Given the description of an element on the screen output the (x, y) to click on. 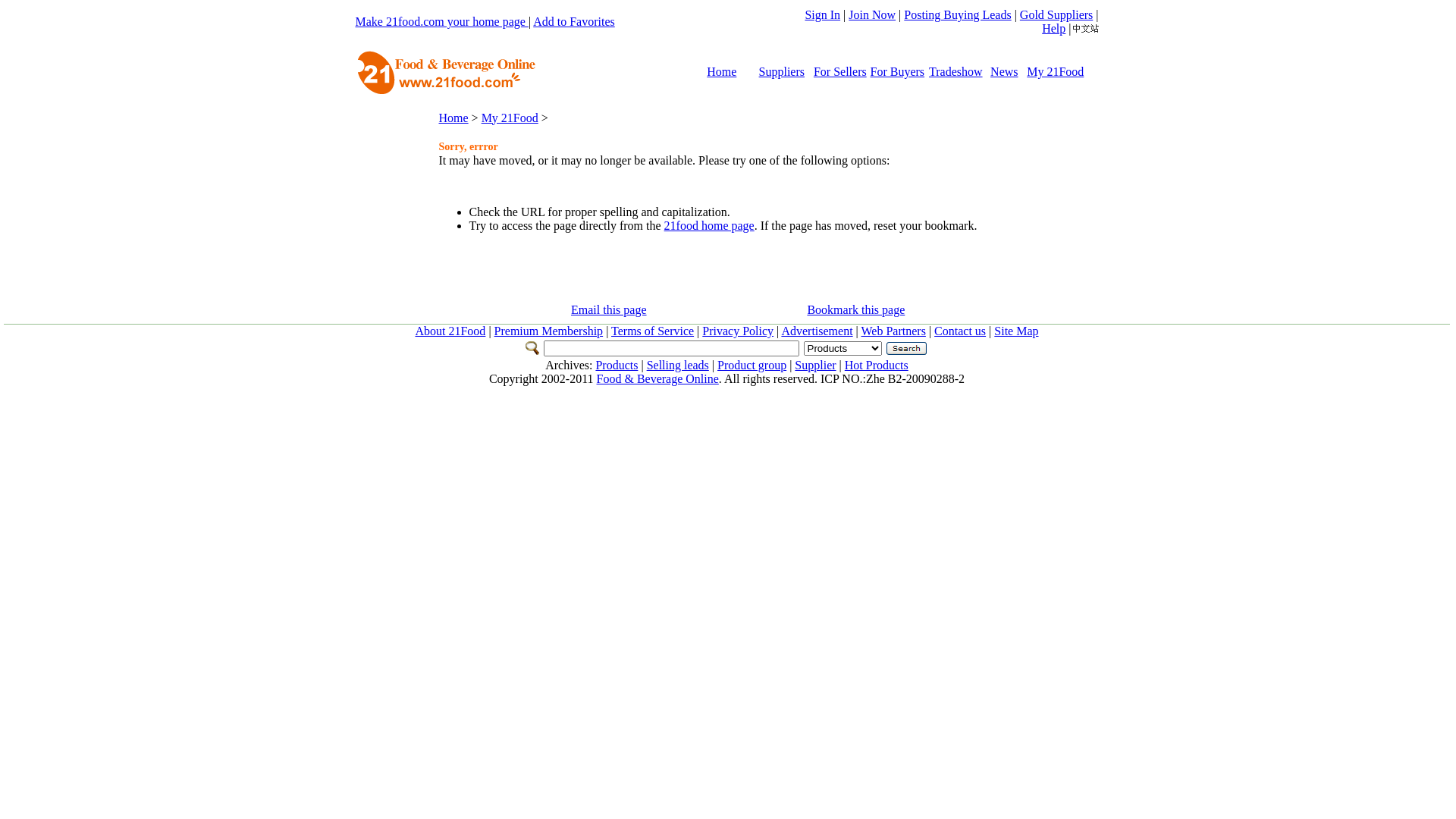
Home Element type: text (452, 116)
Help Element type: text (1053, 27)
My 21Food Element type: text (509, 116)
Food & Beverage Online Element type: text (657, 378)
News Element type: text (1003, 71)
About 21Food Element type: text (449, 330)
My 21Food Element type: text (1054, 71)
Add to Favorites Element type: text (574, 21)
Bookmark this page Element type: text (855, 309)
Make 21food.com your home page Element type: text (440, 21)
Advertisement Element type: text (816, 330)
Hot Products Element type: text (876, 364)
Home Element type: text (721, 71)
Tradeshow Element type: text (955, 71)
Join Now Element type: text (871, 14)
Privacy Policy Element type: text (737, 330)
Sign In Element type: text (822, 14)
For Buyers Element type: text (897, 71)
Premium Membership Element type: text (548, 330)
Selling leads Element type: text (677, 364)
Site Map Element type: text (1016, 330)
Gold Suppliers Element type: text (1055, 14)
Web Partners Element type: text (893, 330)
For Sellers Element type: text (839, 71)
Email this page Element type: text (608, 309)
Posting Buying Leads Element type: text (956, 14)
Terms of Service Element type: text (652, 330)
Suppliers Element type: text (781, 71)
Products Element type: text (616, 364)
21food home page Element type: text (709, 225)
Supplier Element type: text (814, 364)
Contact us Element type: text (959, 330)
Product group Element type: text (751, 364)
